Given the description of an element on the screen output the (x, y) to click on. 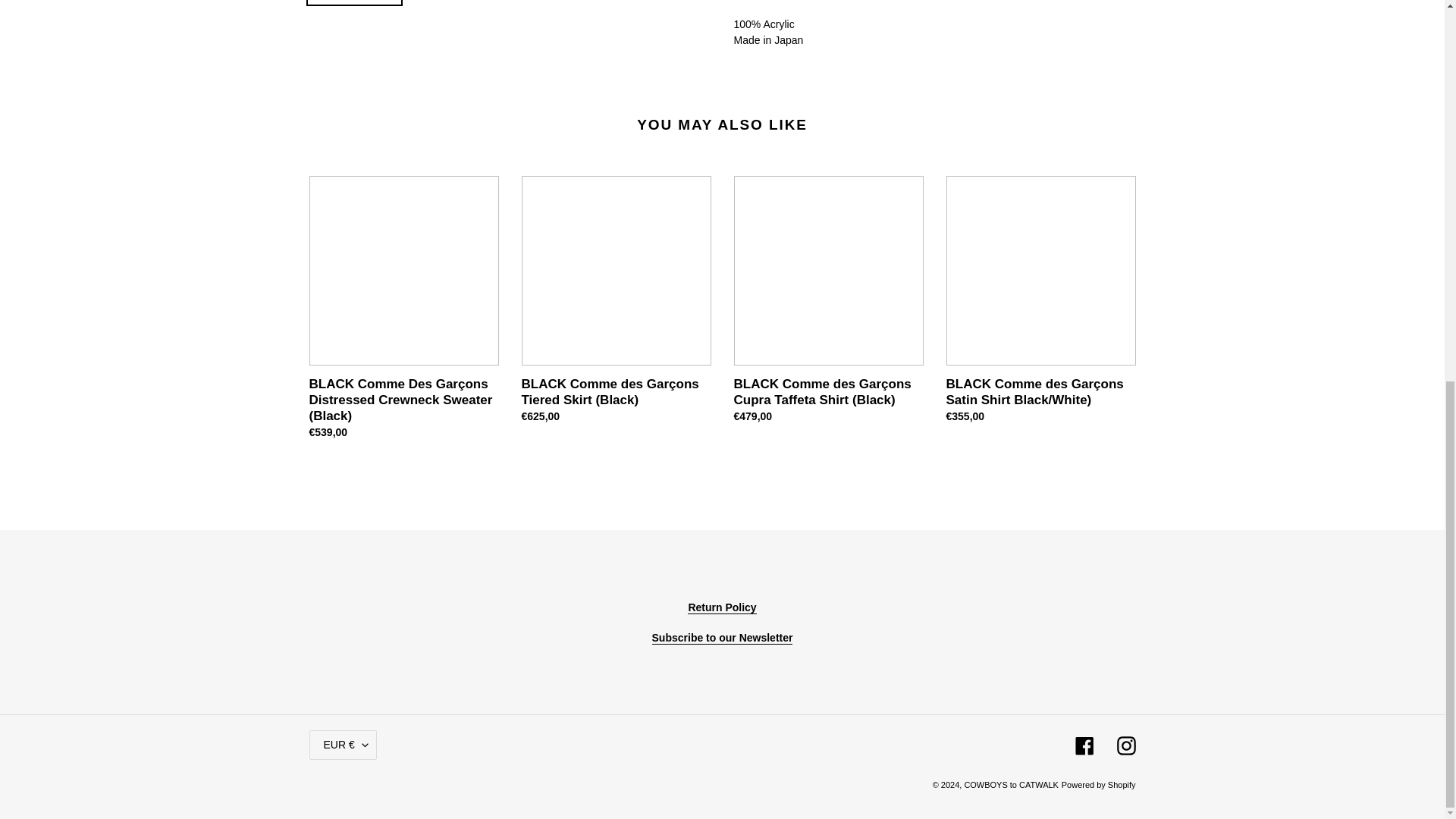
Return policy (721, 607)
COWBOYS to CATWALK Newsletter (722, 637)
